Given the description of an element on the screen output the (x, y) to click on. 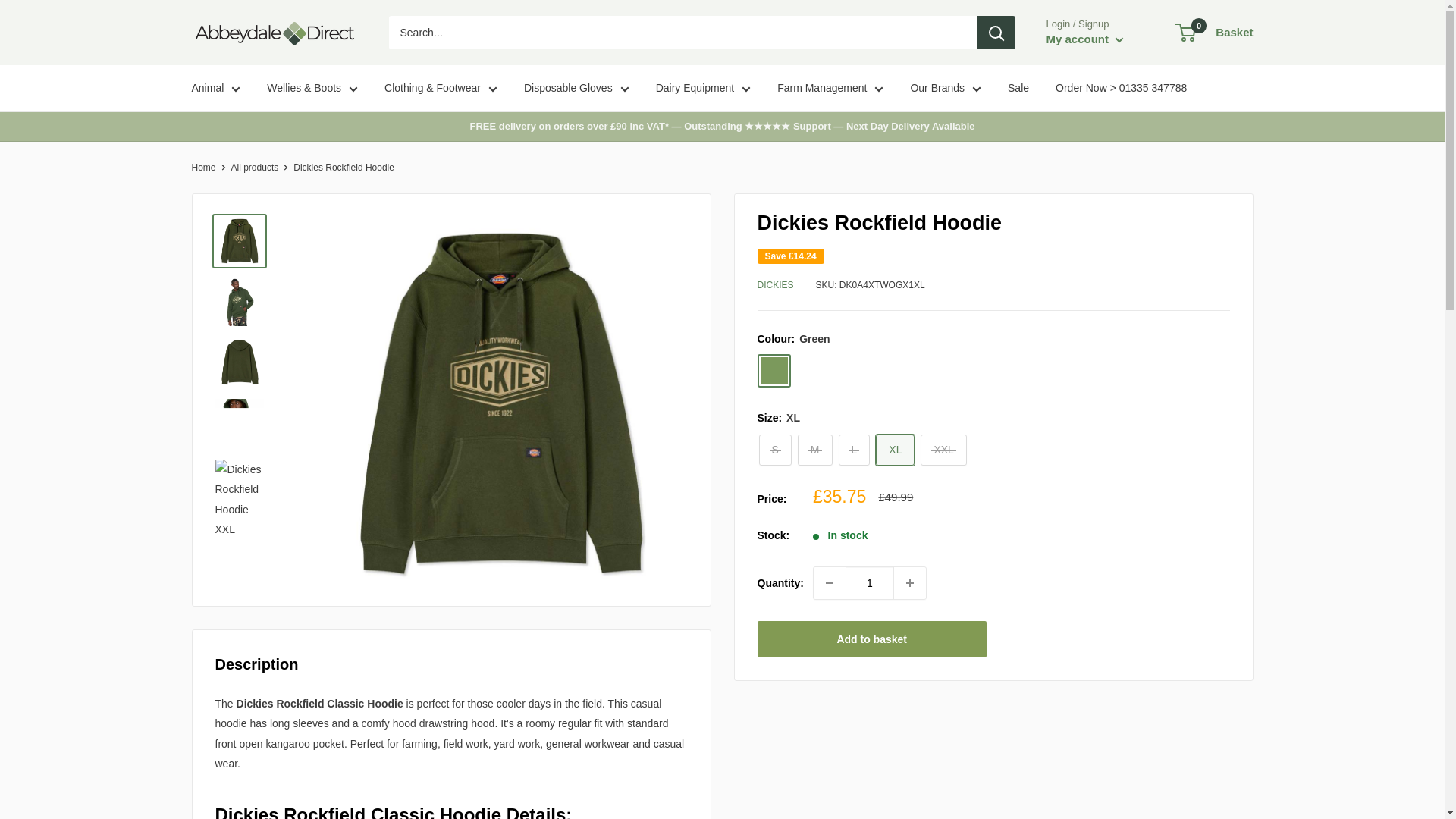
XXL (943, 450)
Green (773, 370)
Increase quantity by 1 (909, 582)
L (854, 450)
S (774, 450)
1 (869, 582)
XL (895, 450)
Decrease quantity by 1 (829, 582)
M (814, 450)
